Given the description of an element on the screen output the (x, y) to click on. 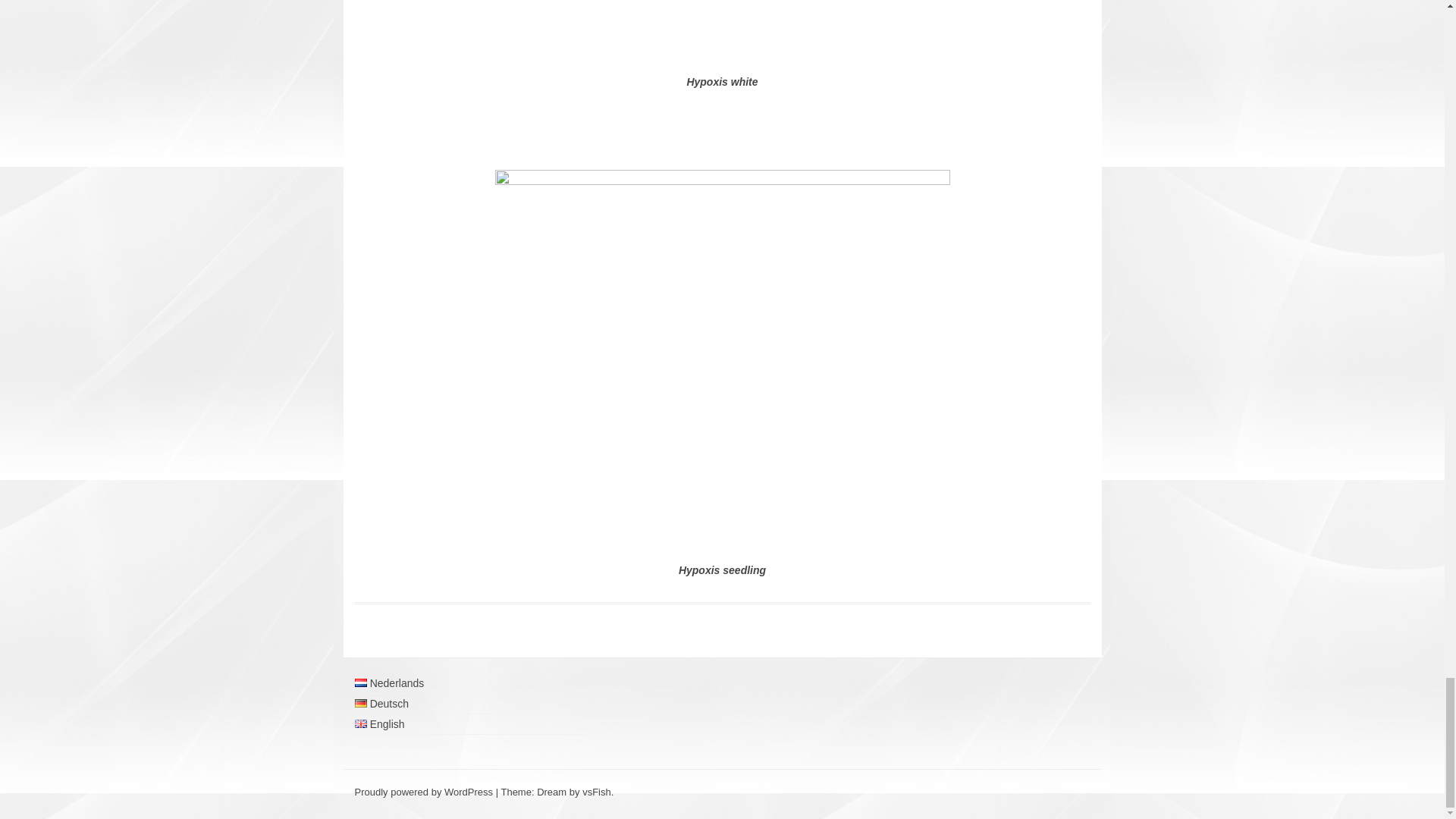
English (360, 723)
Proudly powered by WordPress (424, 791)
Deutsch (382, 703)
vsFish (596, 791)
Deutsch (360, 703)
Nederlands (390, 683)
English (379, 724)
Nederlands (360, 682)
